Given the description of an element on the screen output the (x, y) to click on. 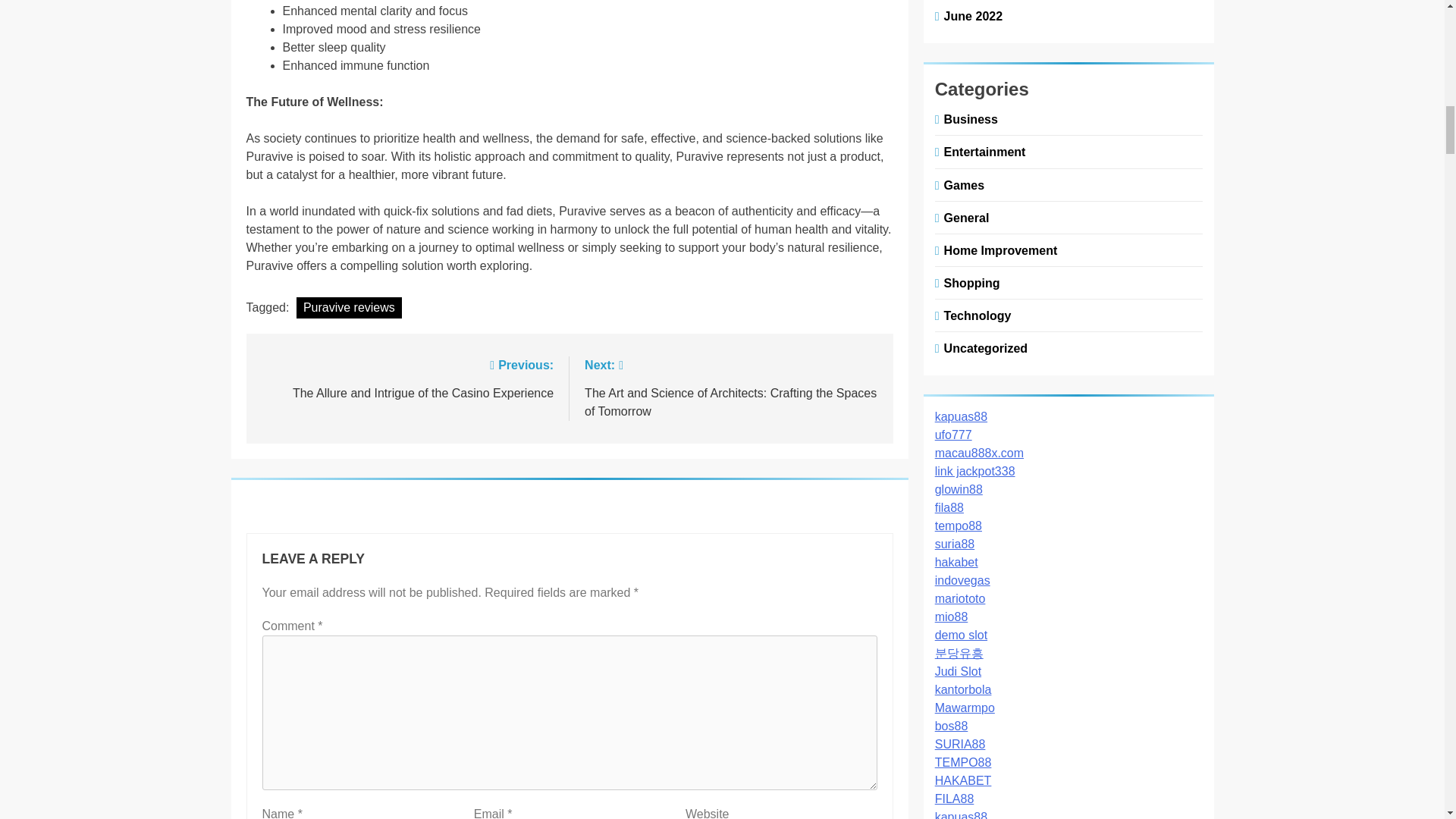
Puravive reviews (406, 377)
